Given the description of an element on the screen output the (x, y) to click on. 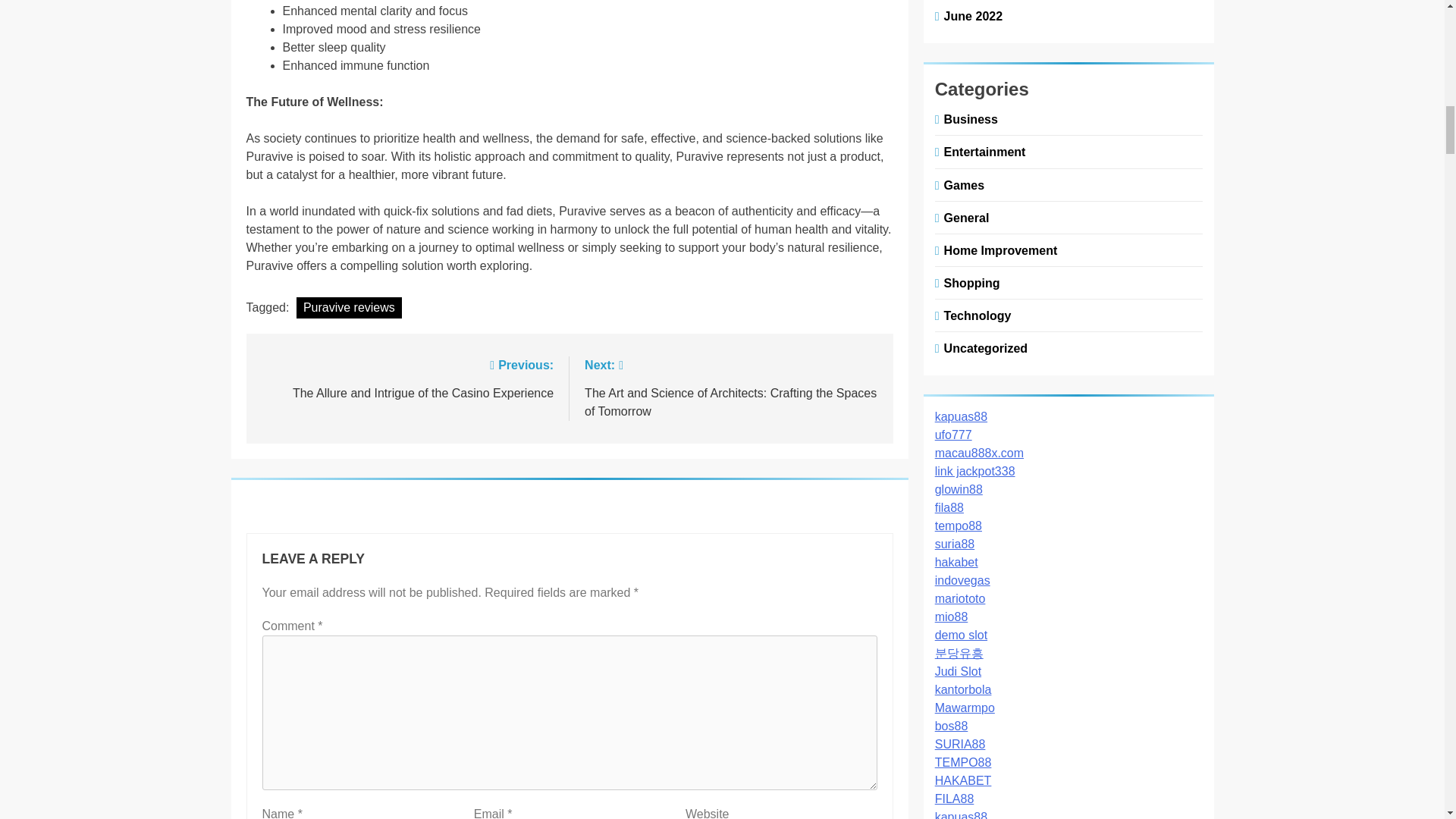
Puravive reviews (406, 377)
